Given the description of an element on the screen output the (x, y) to click on. 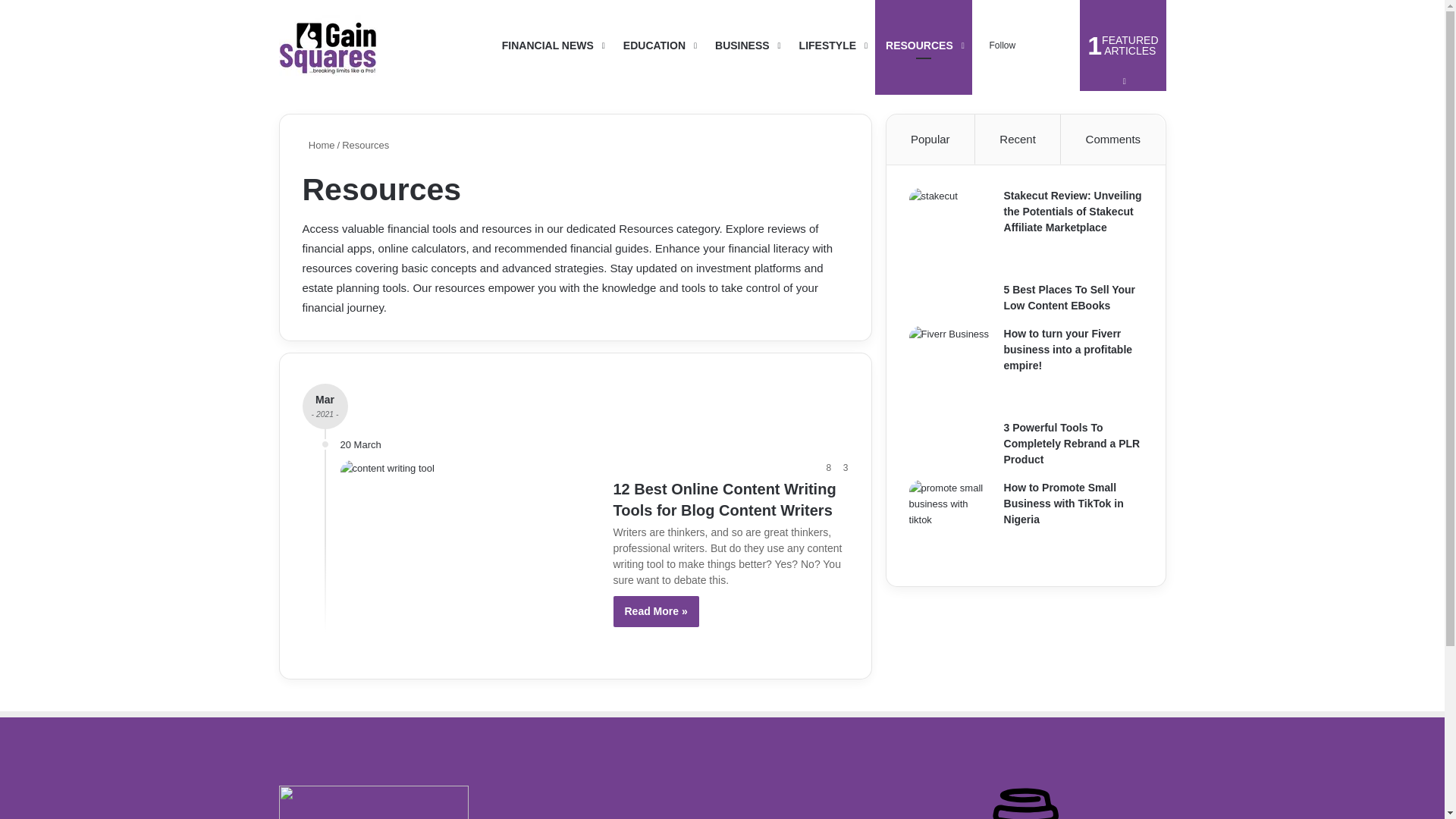
RESOURCES (923, 45)
How to turn your Fiverr business into a profitable empire! (1068, 349)
EDUCATION (658, 45)
Recent (1123, 45)
LIFESTYLE (1018, 139)
GS (832, 45)
Popular (328, 45)
5 Best Places To Sell Your Low Content EBooks (930, 139)
Buy Me a Coffee (1069, 297)
